Given the description of an element on the screen output the (x, y) to click on. 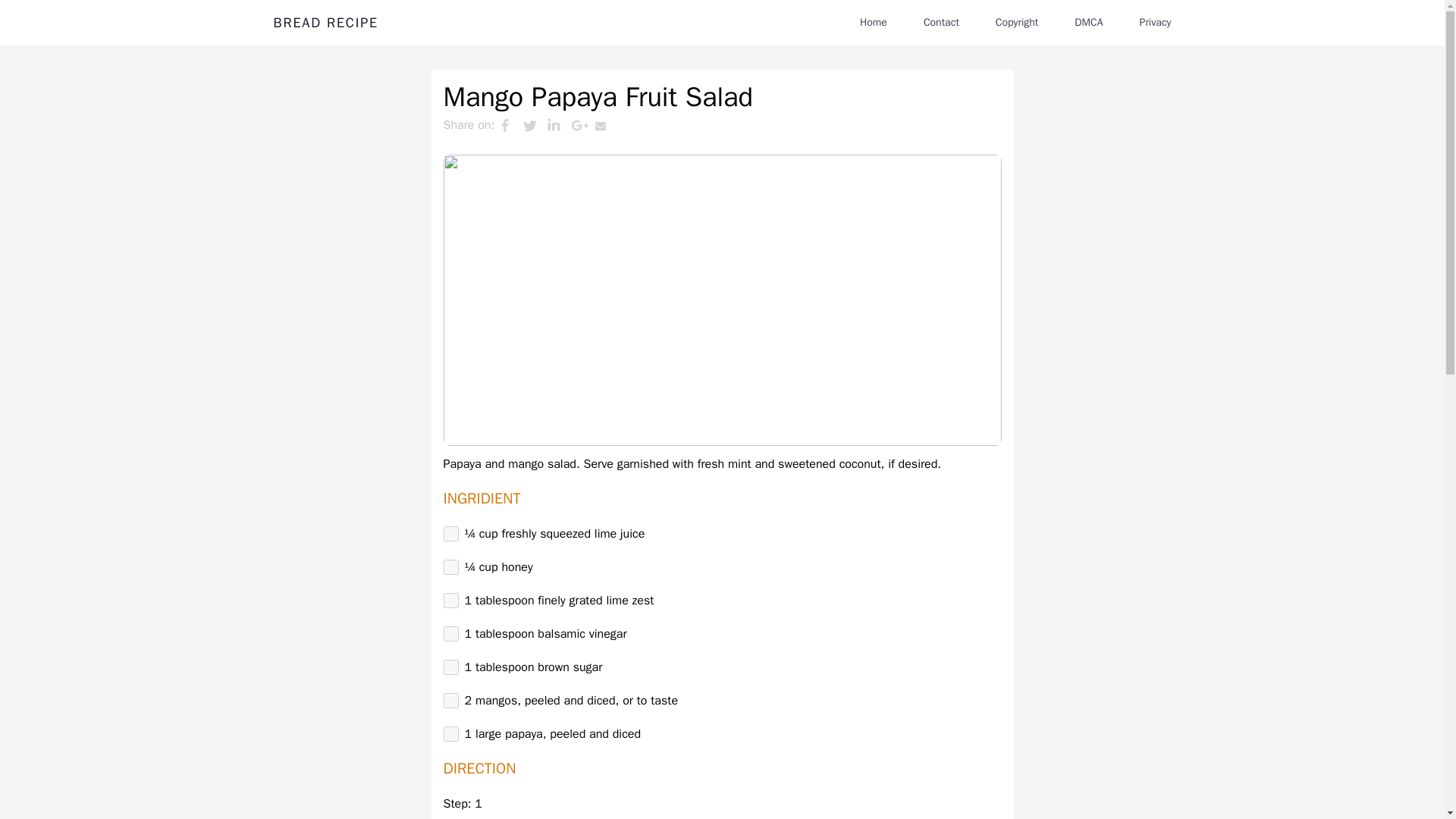
Home (873, 22)
Copyright (1016, 22)
BREAD RECIPE (325, 22)
on (450, 533)
on (450, 734)
on (450, 566)
on (450, 600)
Contact (941, 22)
on (450, 700)
Privacy (1154, 22)
